Given the description of an element on the screen output the (x, y) to click on. 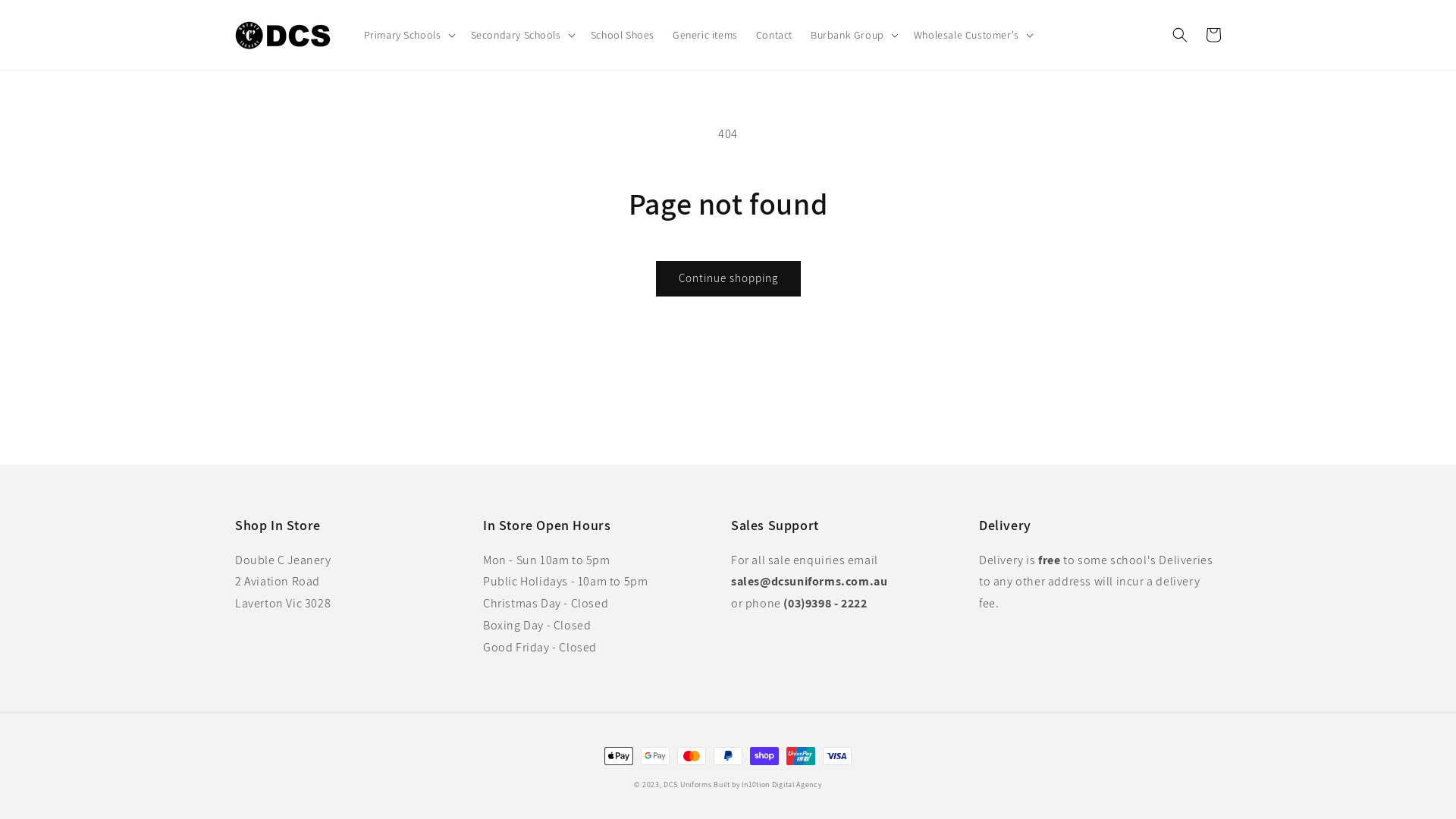
Generic items Element type: text (704, 34)
Continue shopping Element type: text (727, 278)
Built by In10tion Digital Agency Element type: text (767, 784)
Cart Element type: text (1213, 34)
School Shoes Element type: text (622, 34)
DCS Uniforms Element type: text (687, 784)
Contact Element type: text (773, 34)
